Given the description of an element on the screen output the (x, y) to click on. 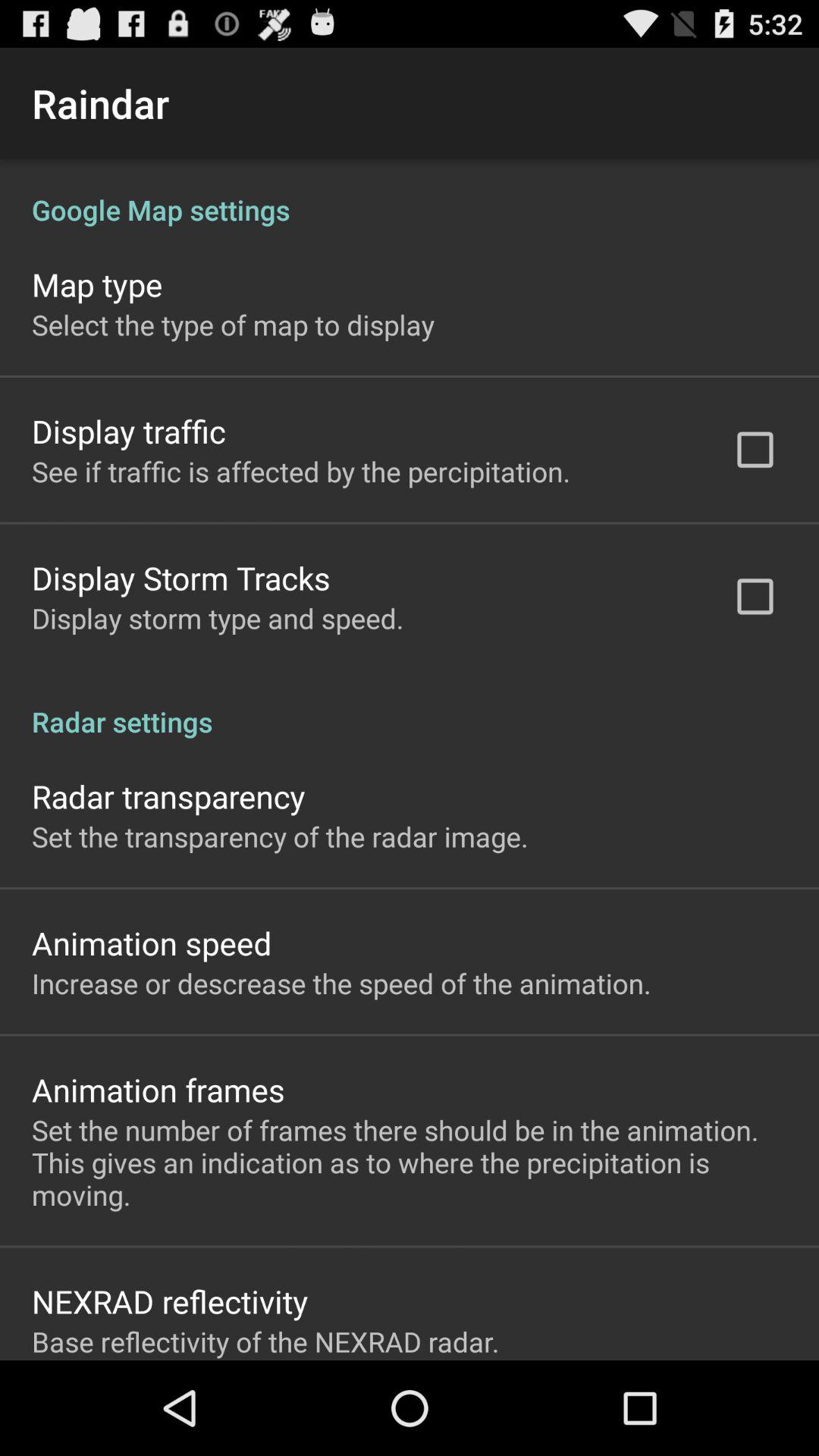
scroll until see if traffic icon (300, 471)
